Given the description of an element on the screen output the (x, y) to click on. 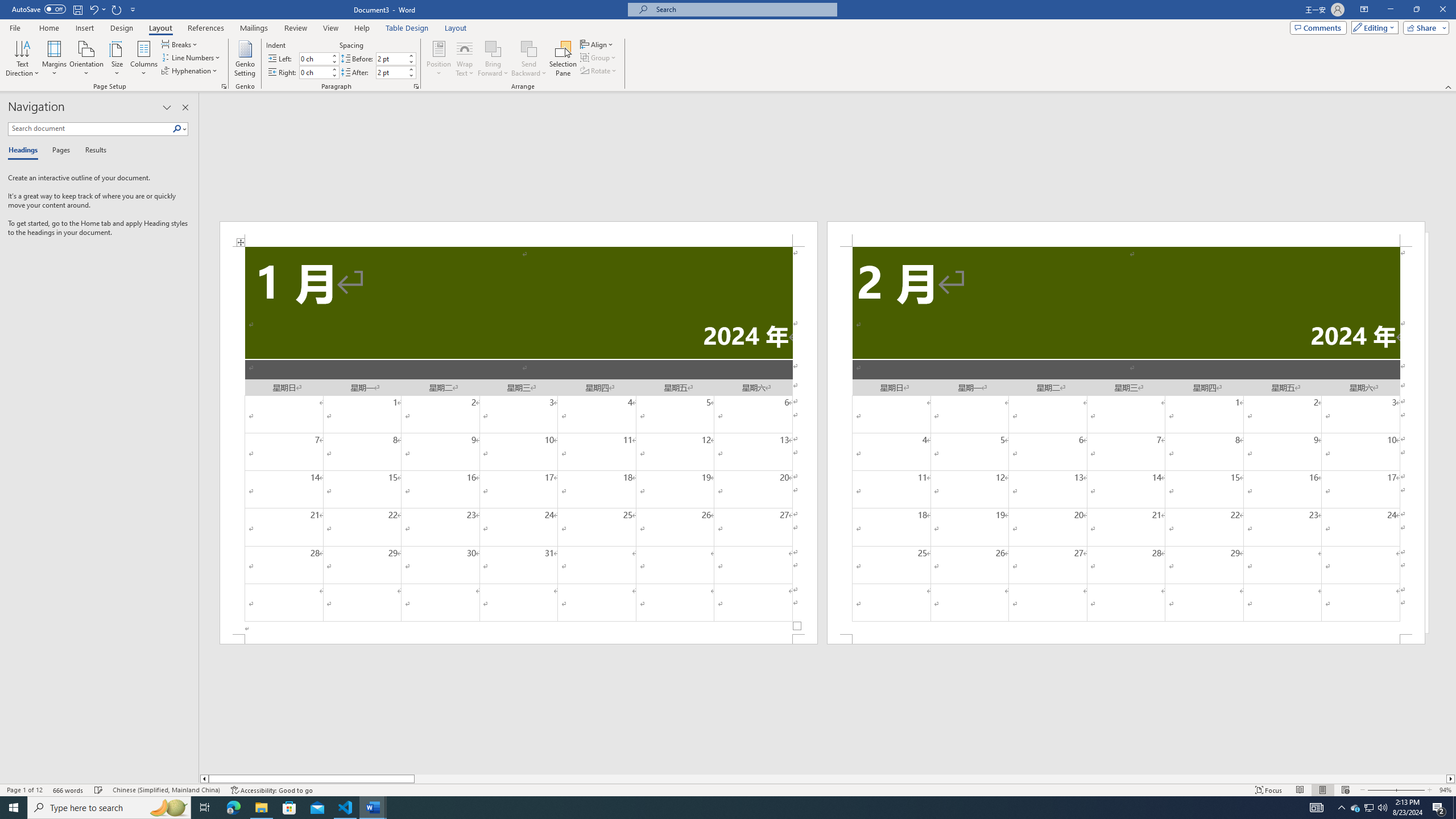
Margins (54, 58)
Send Backward (528, 58)
Text Direction (22, 58)
Line Numbers (191, 56)
